Given the description of an element on the screen output the (x, y) to click on. 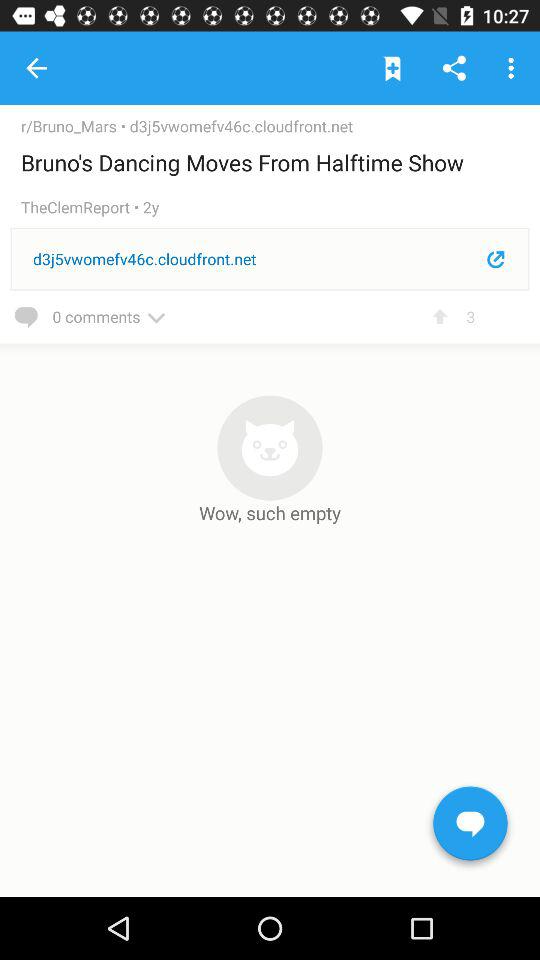
launch the item to the left of d3j5vwomefv46c.cloudfront.net item (75, 125)
